Given the description of an element on the screen output the (x, y) to click on. 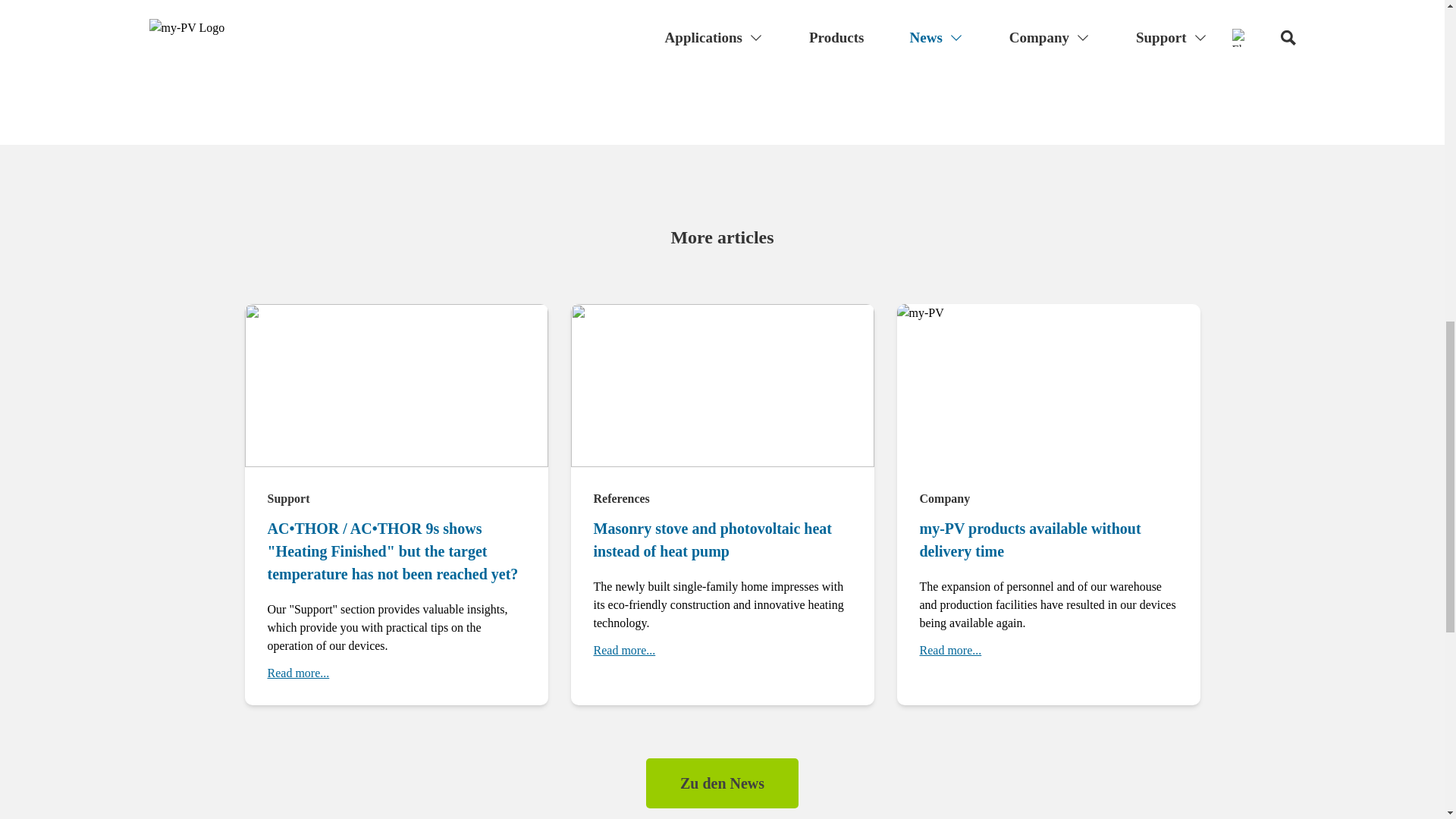
Zu den News (721, 783)
Back to overview (721, 21)
Read more... (297, 673)
Read more... (623, 650)
Read more... (949, 650)
